Given the description of an element on the screen output the (x, y) to click on. 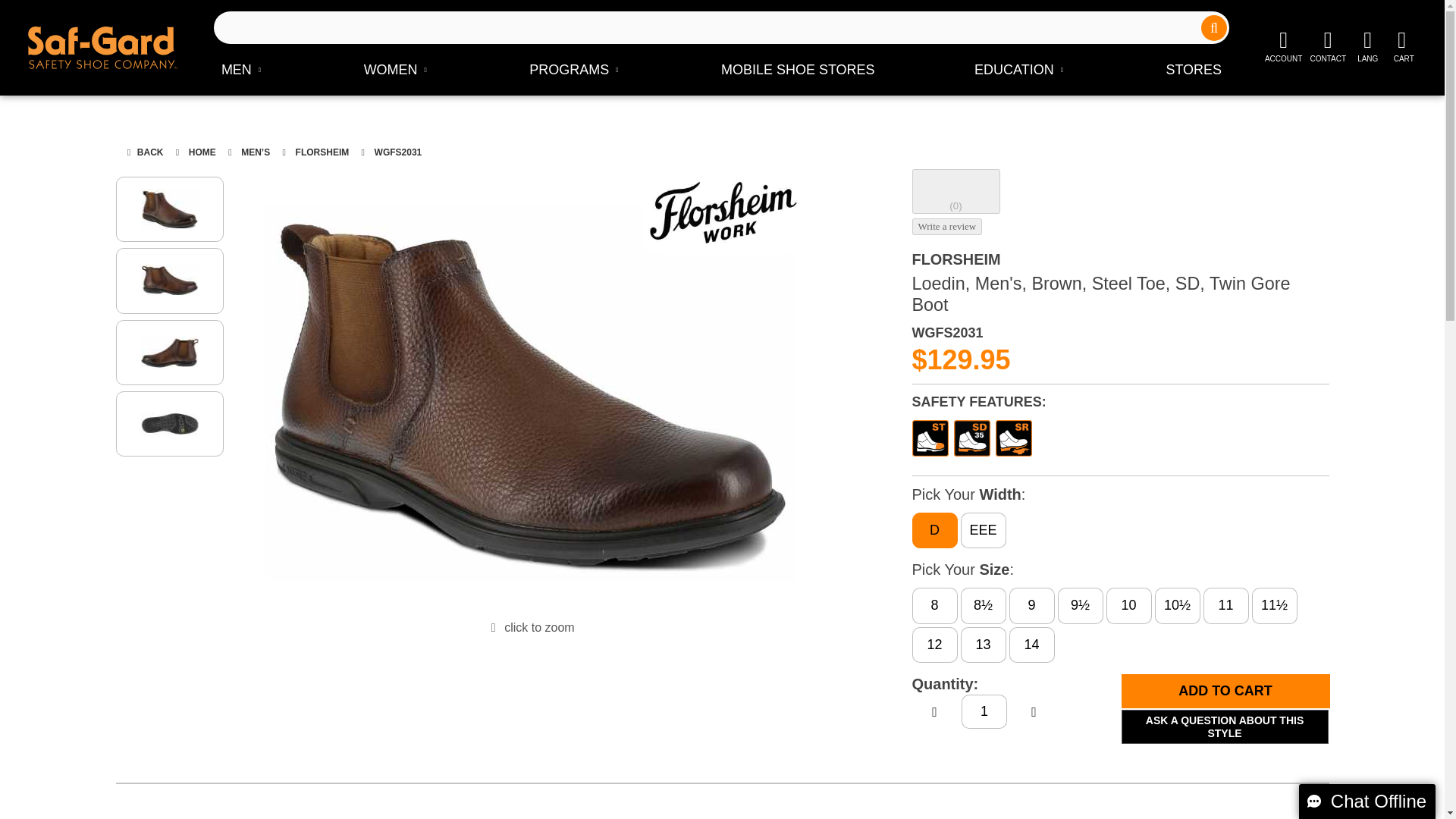
1 (983, 711)
Contact (1326, 47)
Account (1283, 47)
D (933, 529)
EEE (982, 529)
Search (1214, 27)
Saf-Gard Safety Shoe Company Inc. (101, 47)
Search (1214, 27)
Increase Quantity (933, 712)
MEN (242, 69)
